Given the description of an element on the screen output the (x, y) to click on. 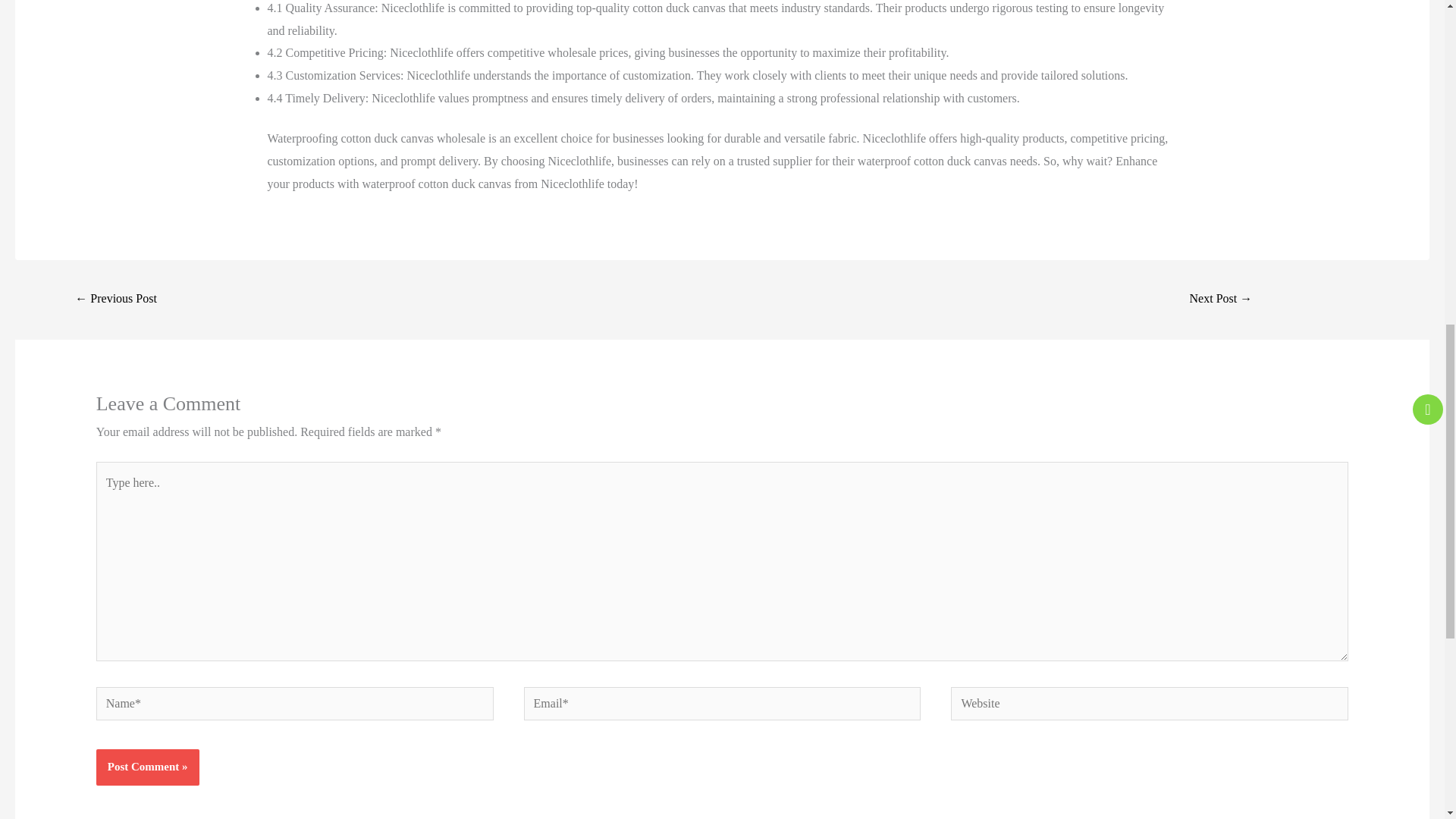
Duck canvas fabric prints (115, 299)
